Given the description of an element on the screen output the (x, y) to click on. 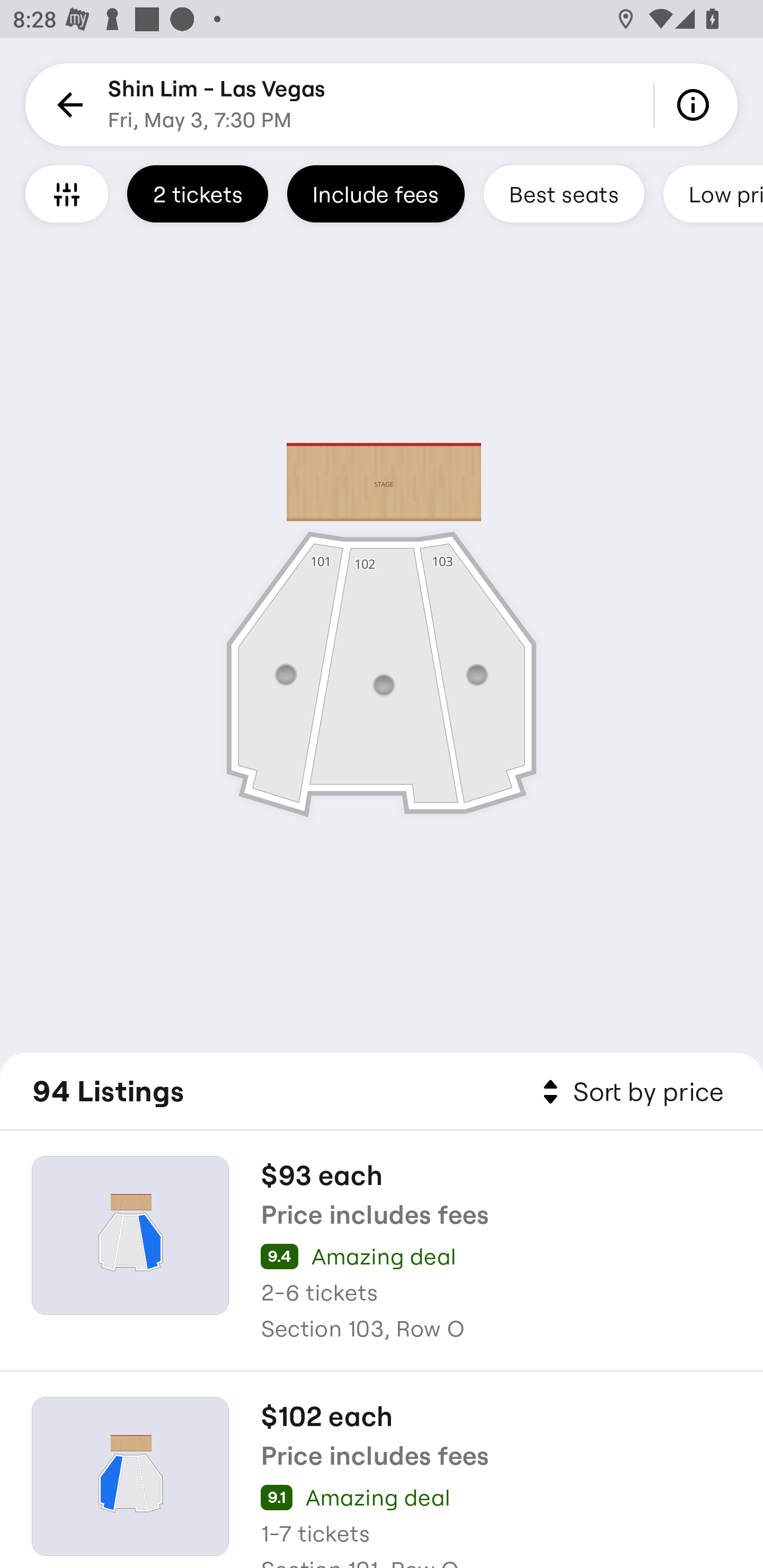
Back Shin Lim - Las Vegas Fri, May 3, 7:30 PM Info (381, 104)
Back (66, 104)
Shin Lim - Las Vegas Fri, May 3, 7:30 PM (216, 104)
Info (695, 104)
Filters and Accessible Seating (66, 193)
2 tickets (197, 193)
Include fees (375, 193)
Best seats (563, 193)
Low prices (713, 193)
Sort by price (629, 1091)
